Given the description of an element on the screen output the (x, y) to click on. 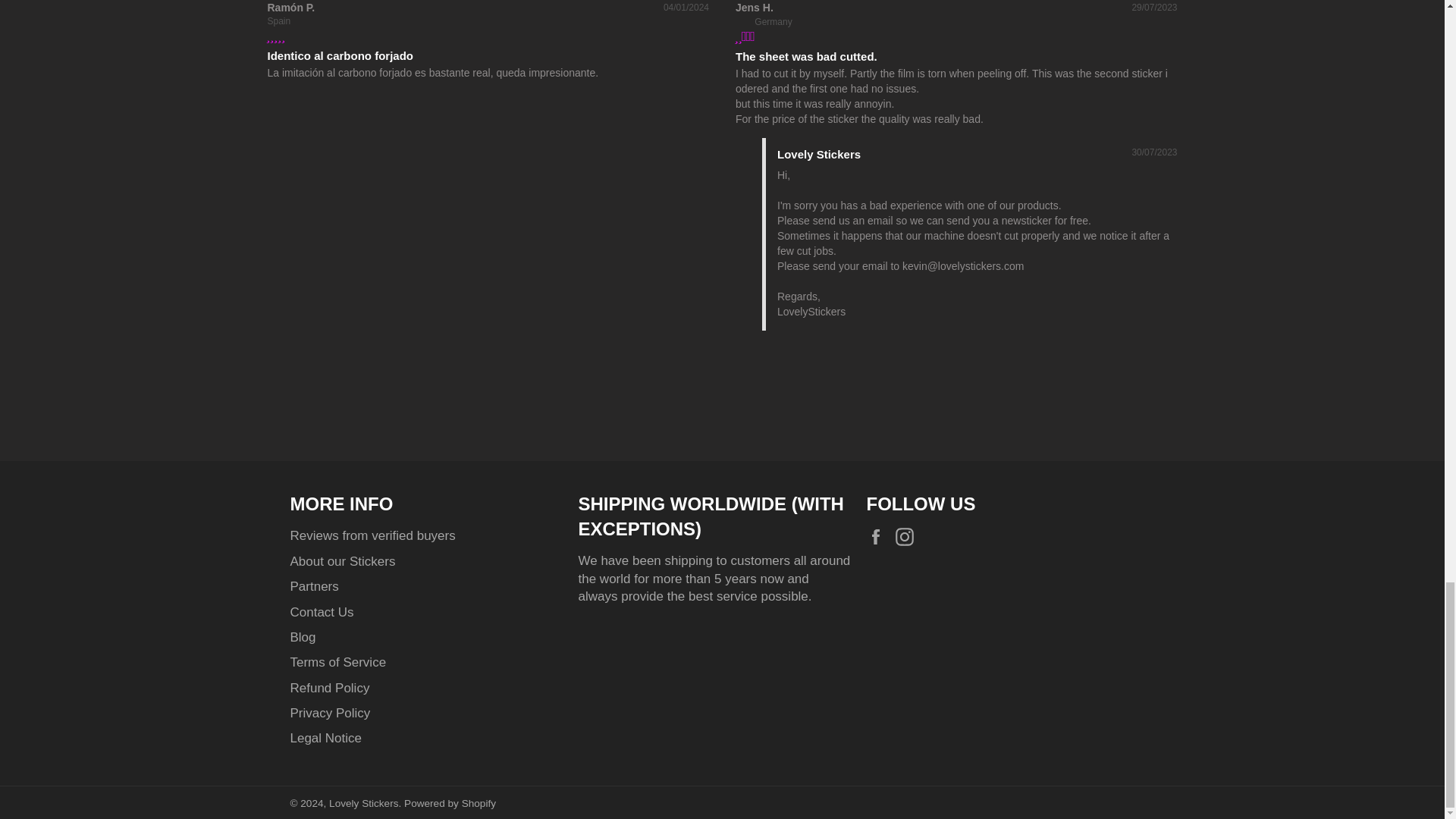
Lovely Stickers on Facebook (878, 536)
Lovely Stickers on Instagram (908, 536)
